Given the description of an element on the screen output the (x, y) to click on. 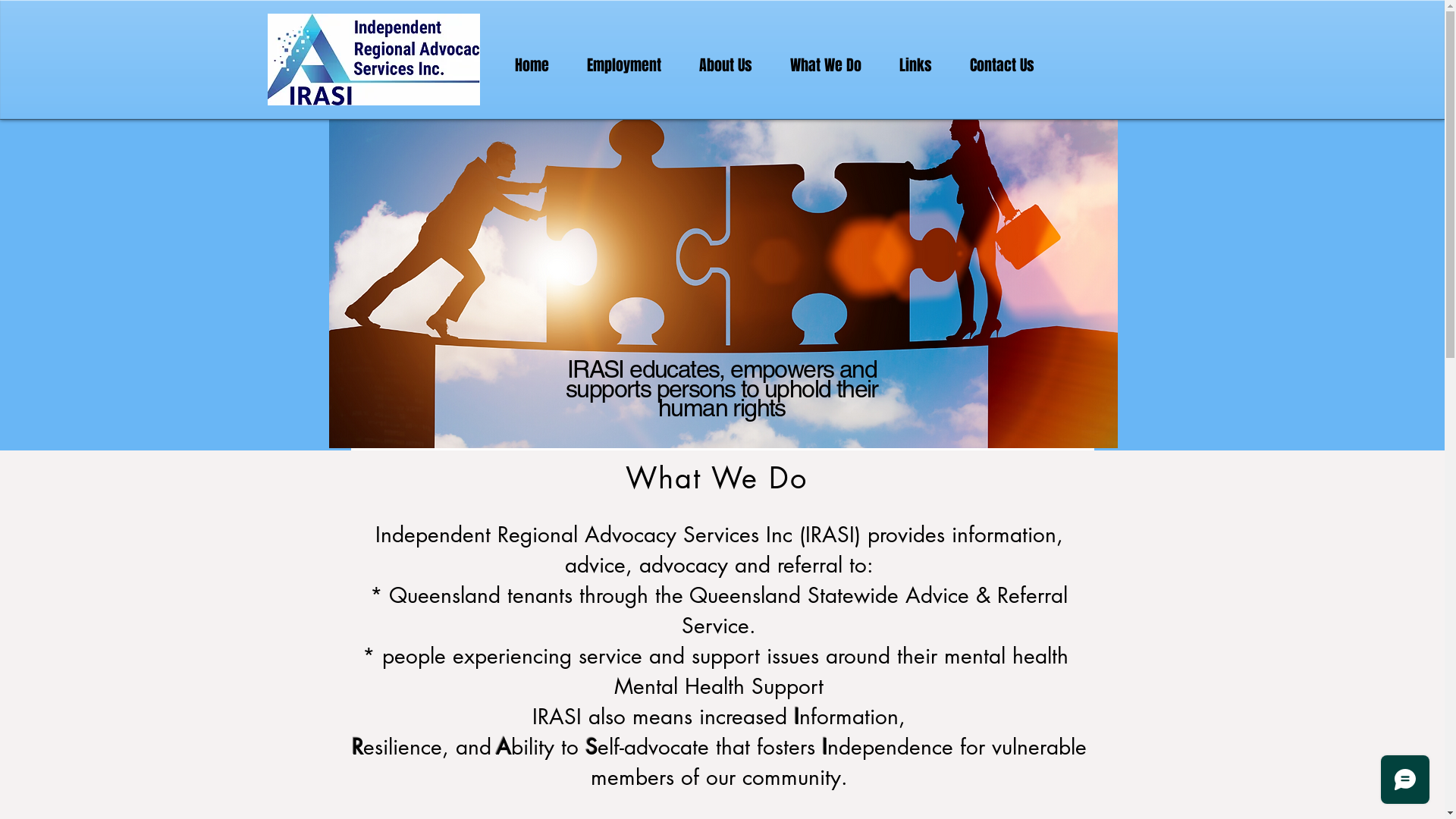
What We Do Element type: text (824, 65)
Links Element type: text (914, 65)
Employment Element type: text (623, 65)
About Us Element type: text (724, 65)
Contact Us Element type: text (1001, 65)
Home Element type: text (531, 65)
